Given the description of an element on the screen output the (x, y) to click on. 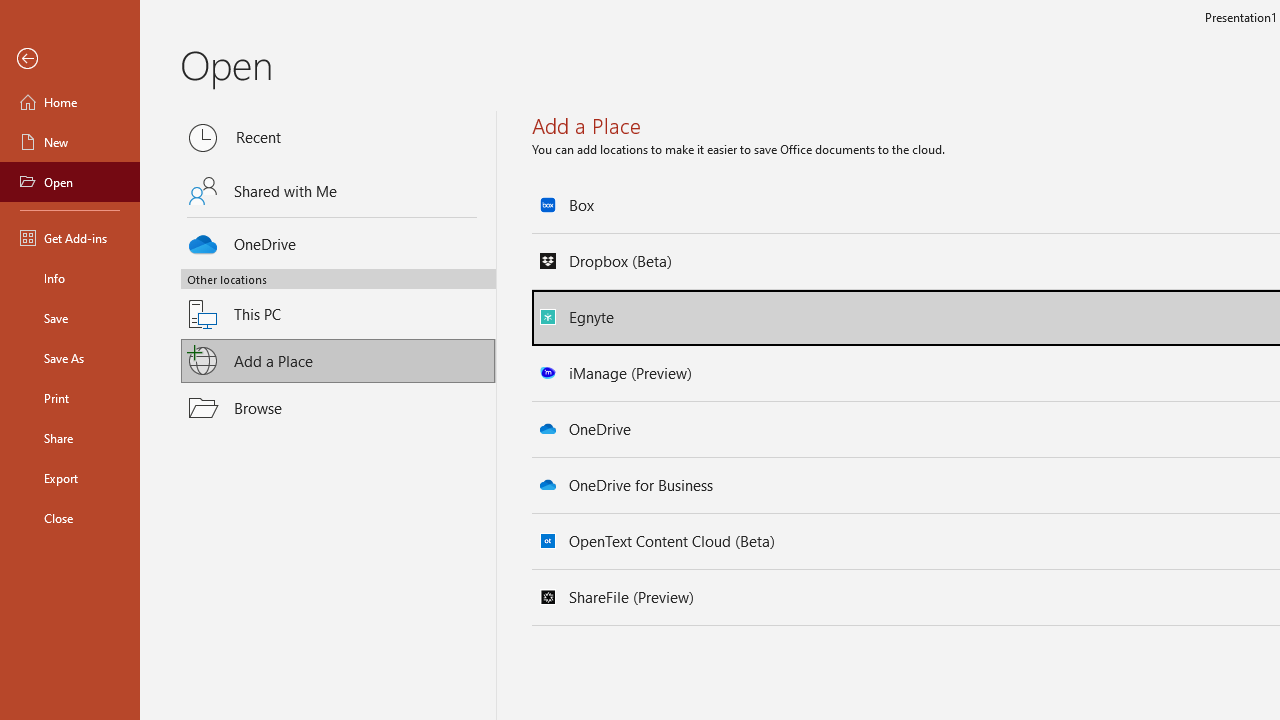
Info (69, 277)
This PC (338, 302)
Browse (338, 407)
